Given the description of an element on the screen output the (x, y) to click on. 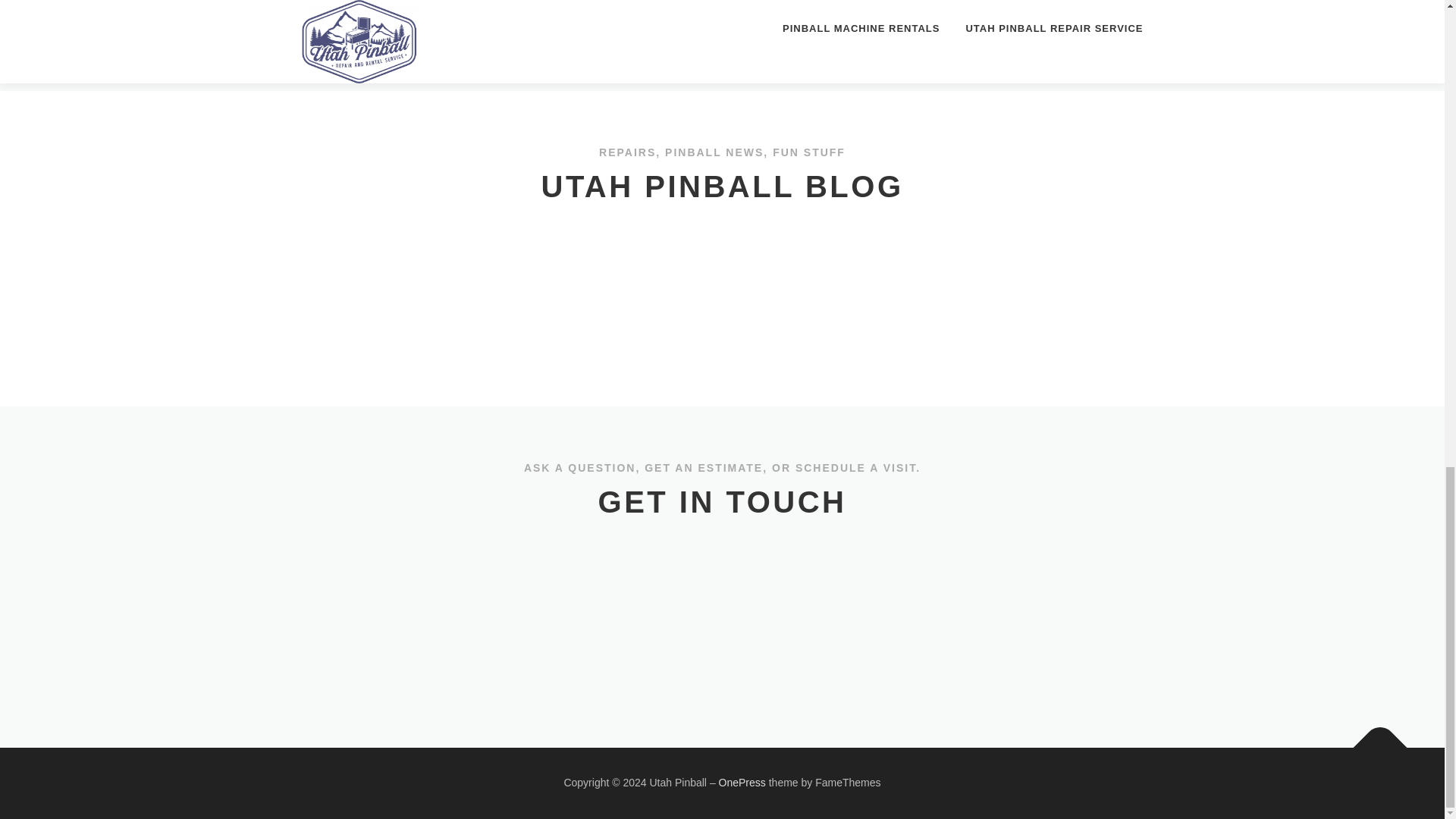
Search (1102, 336)
Back To Top (1372, 740)
OnePress (742, 782)
